Given the description of an element on the screen output the (x, y) to click on. 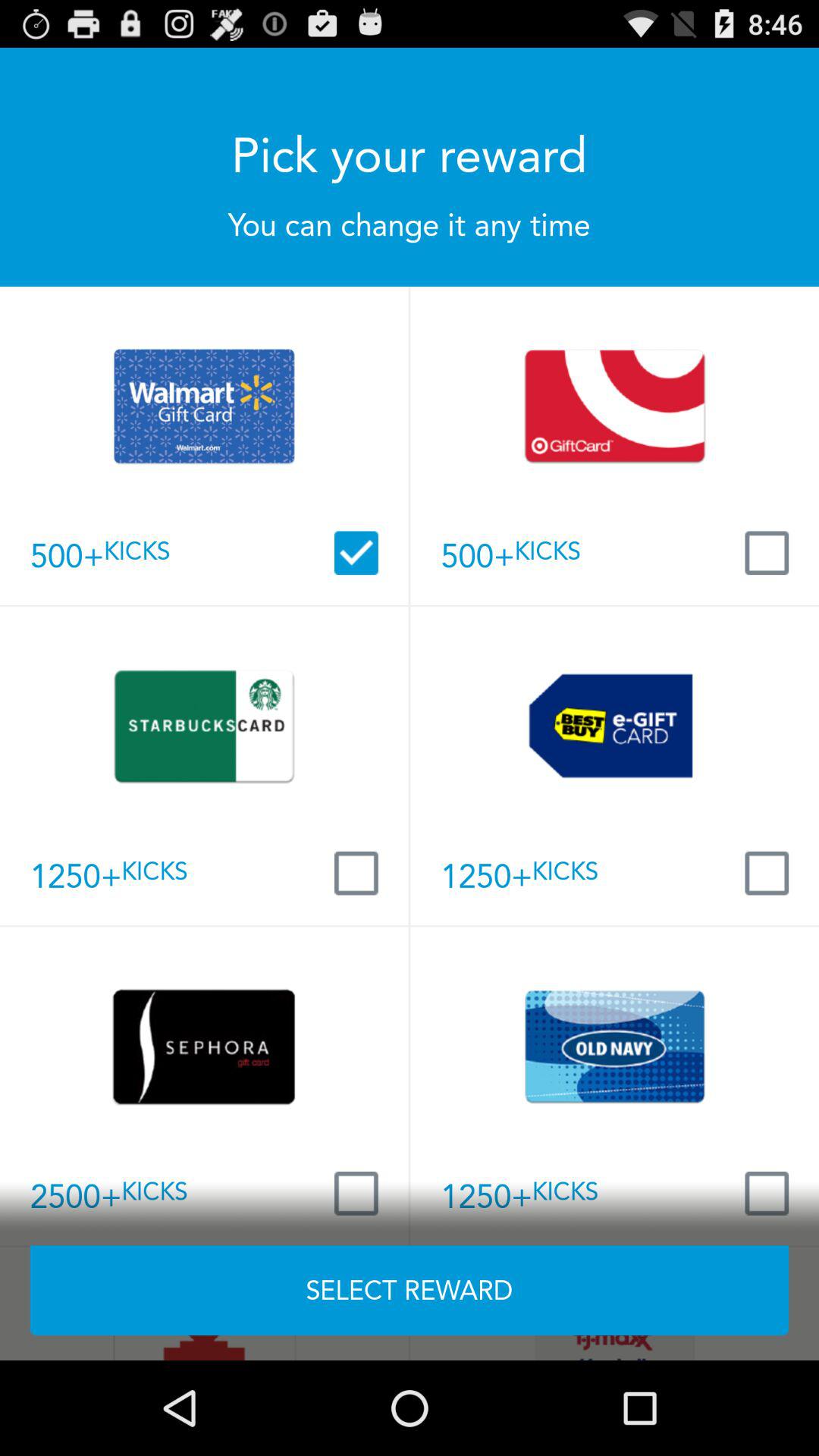
select the second image which is after starbucks card (614, 726)
click on the image in the second row first column (204, 726)
select the card which is at the left side of the card old navy (204, 1046)
